Given the description of an element on the screen output the (x, y) to click on. 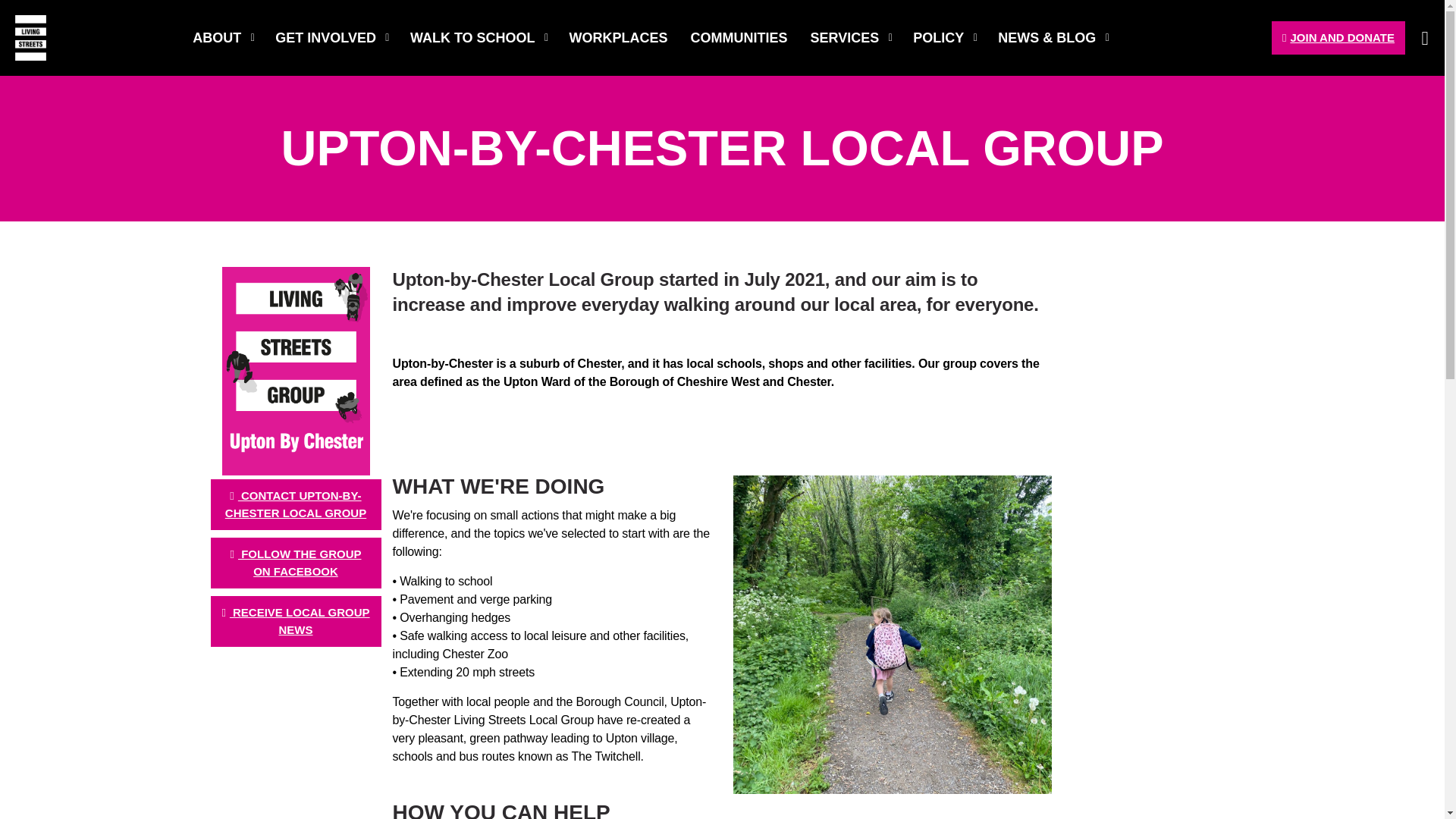
COMMUNITIES (739, 38)
WALK TO SCHOOL (477, 38)
ABOUT (221, 38)
SERVICES (850, 38)
GET INVOLVED (330, 38)
WORKPLACES (618, 38)
